Given the description of an element on the screen output the (x, y) to click on. 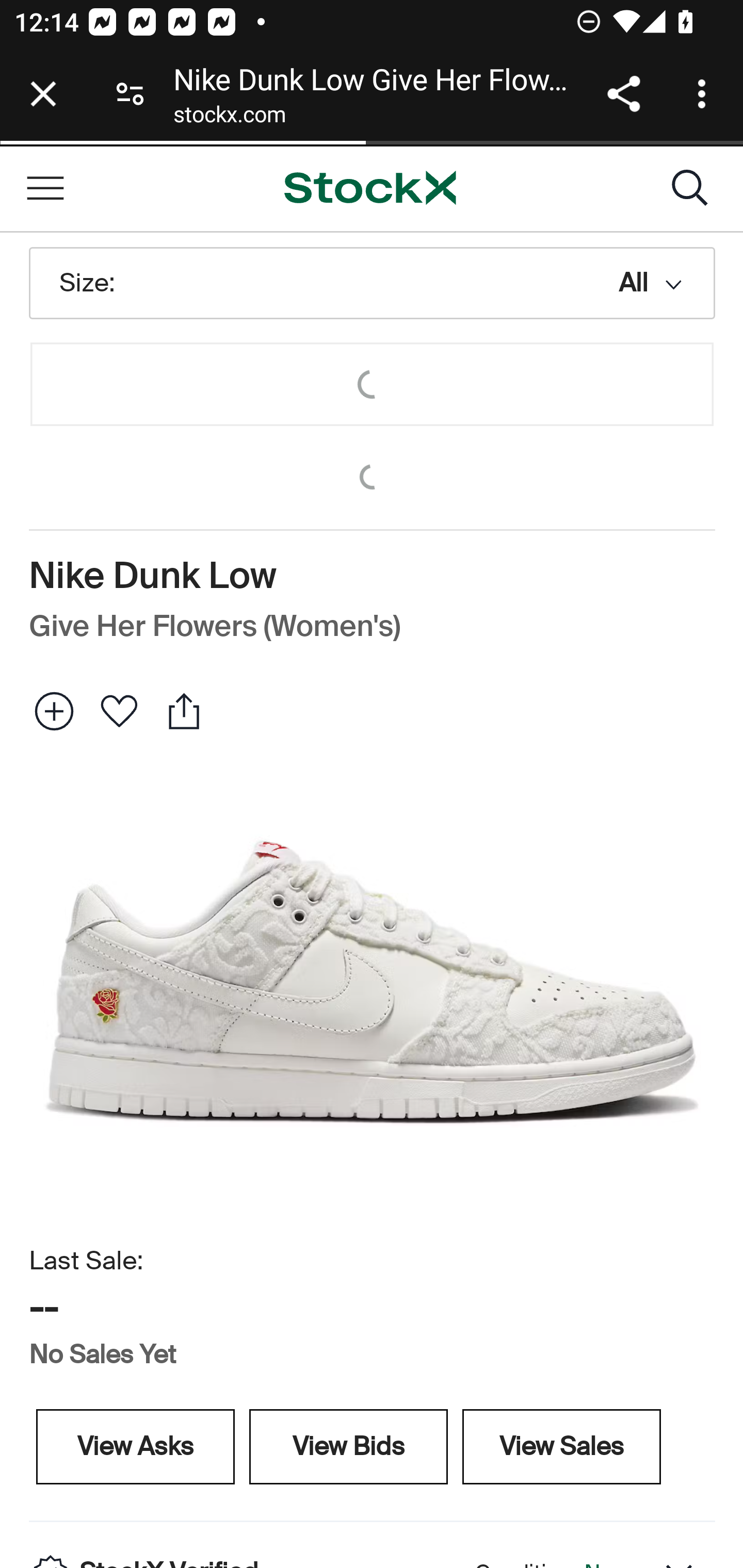
Close tab (43, 93)
Share link address (623, 93)
Customize and control Google Chrome (705, 93)
Connection is secure (129, 93)
stockx.com (229, 117)
